Given the description of an element on the screen output the (x, y) to click on. 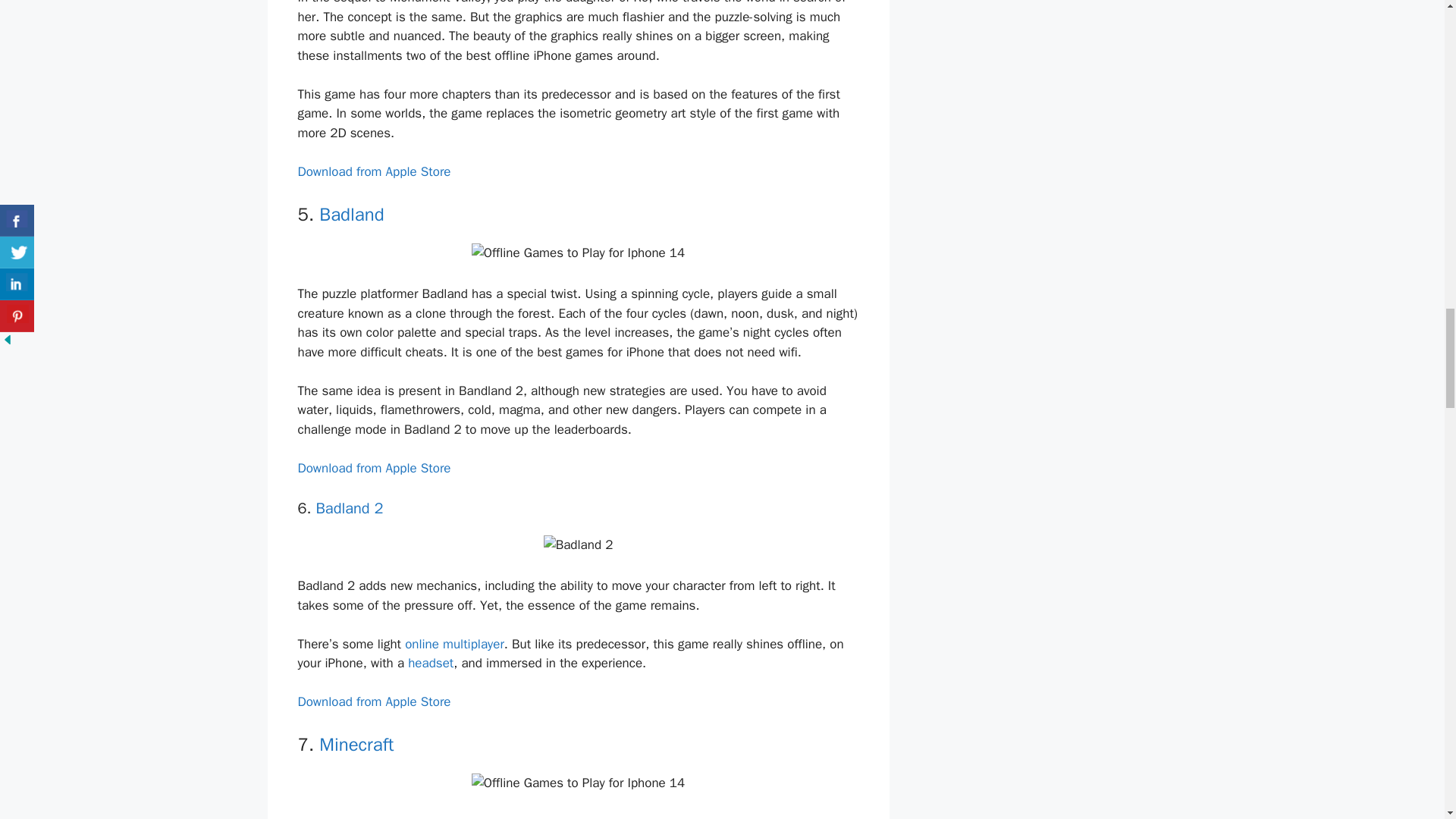
Download from Apple Store (373, 171)
Badland (351, 214)
Download from Apple Store (373, 701)
Download from Apple Store (373, 467)
headset (429, 662)
online multiplayer (453, 643)
Badland 2 (348, 507)
Minecraft (355, 744)
